Given the description of an element on the screen output the (x, y) to click on. 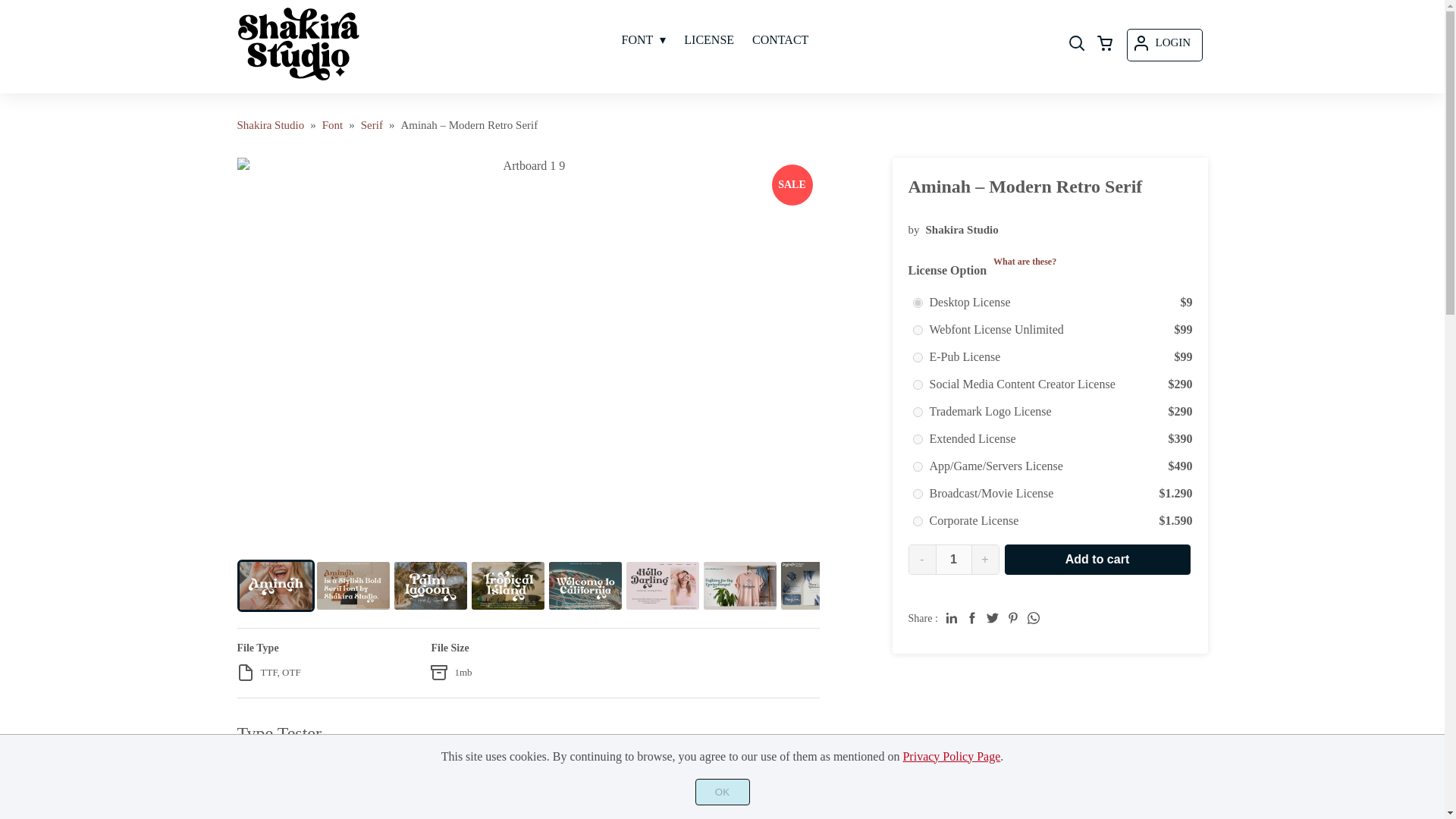
Share to Whatsapp Contact (1033, 617)
Serif (371, 124)
Open Search Form (1076, 44)
Share to Pinterest (1013, 617)
LOGIN (1163, 44)
e-pub-license (917, 357)
What are these? (1024, 261)
Font (332, 124)
Homepage (269, 124)
Share to Linkedin (951, 617)
